Given the description of an element on the screen output the (x, y) to click on. 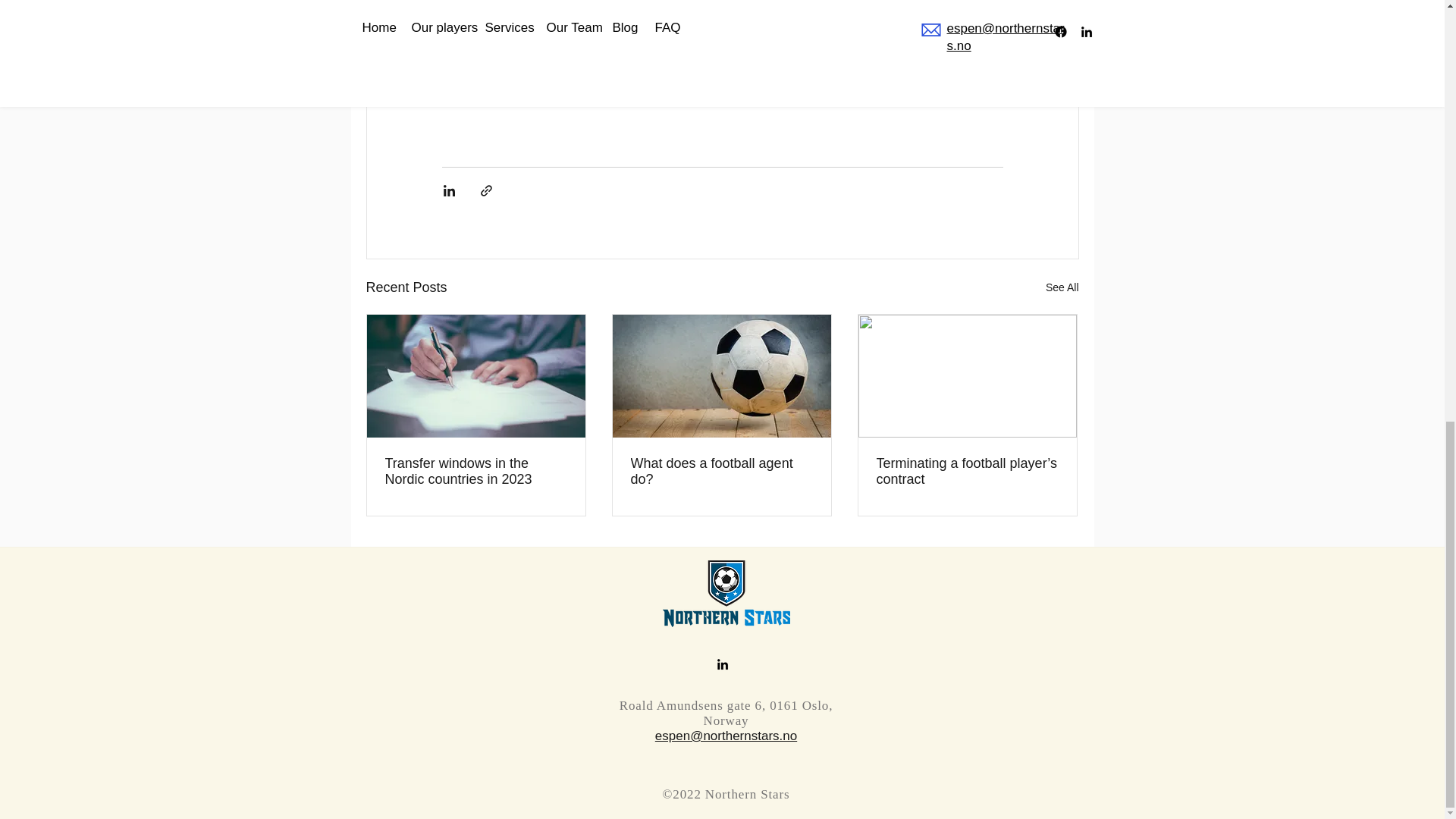
What does a football agent do? (721, 471)
Transfer windows in the Nordic countries in 2023 (476, 471)
See All (1061, 287)
